Given the description of an element on the screen output the (x, y) to click on. 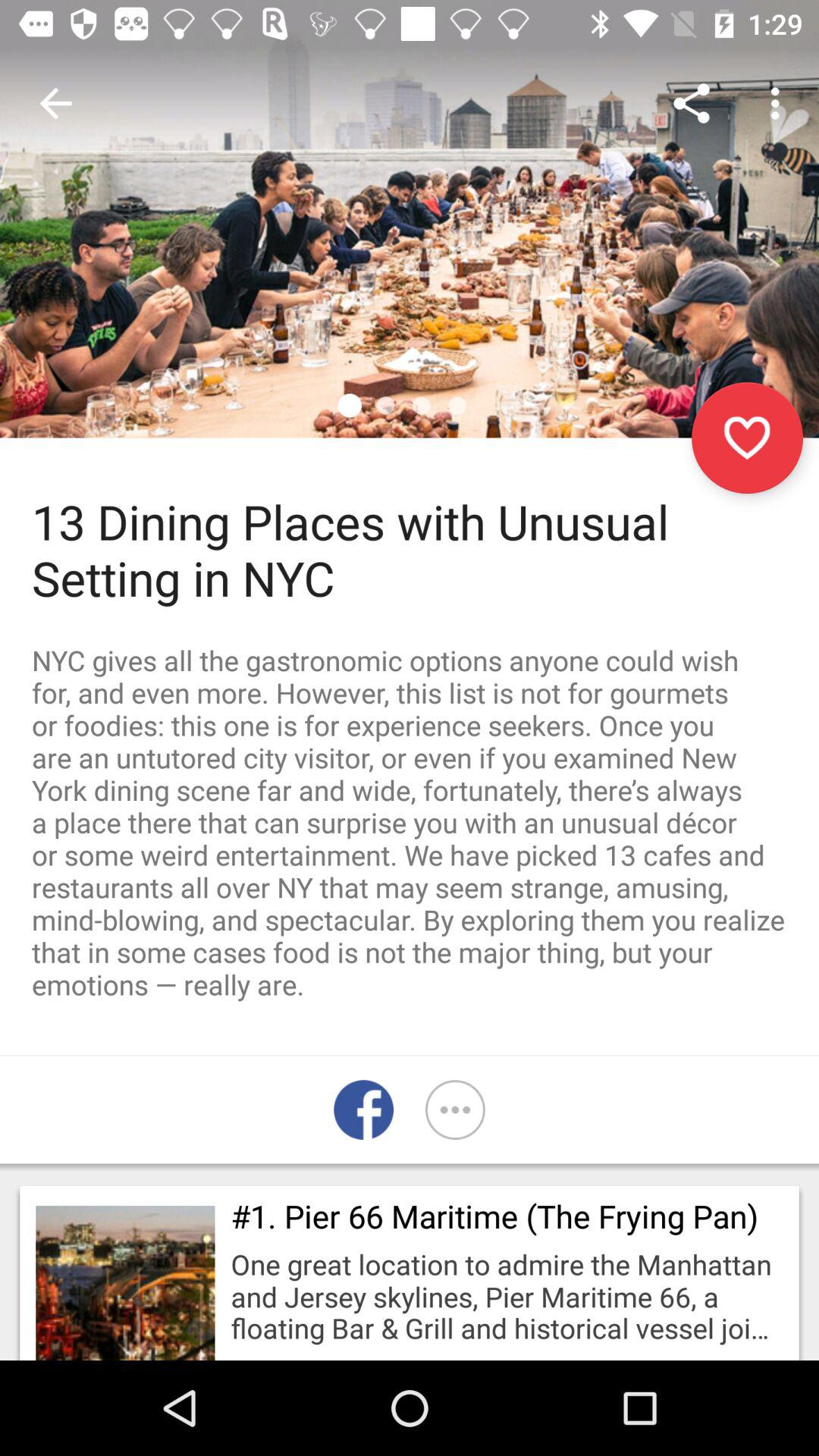
open categories (455, 1109)
